Given the description of an element on the screen output the (x, y) to click on. 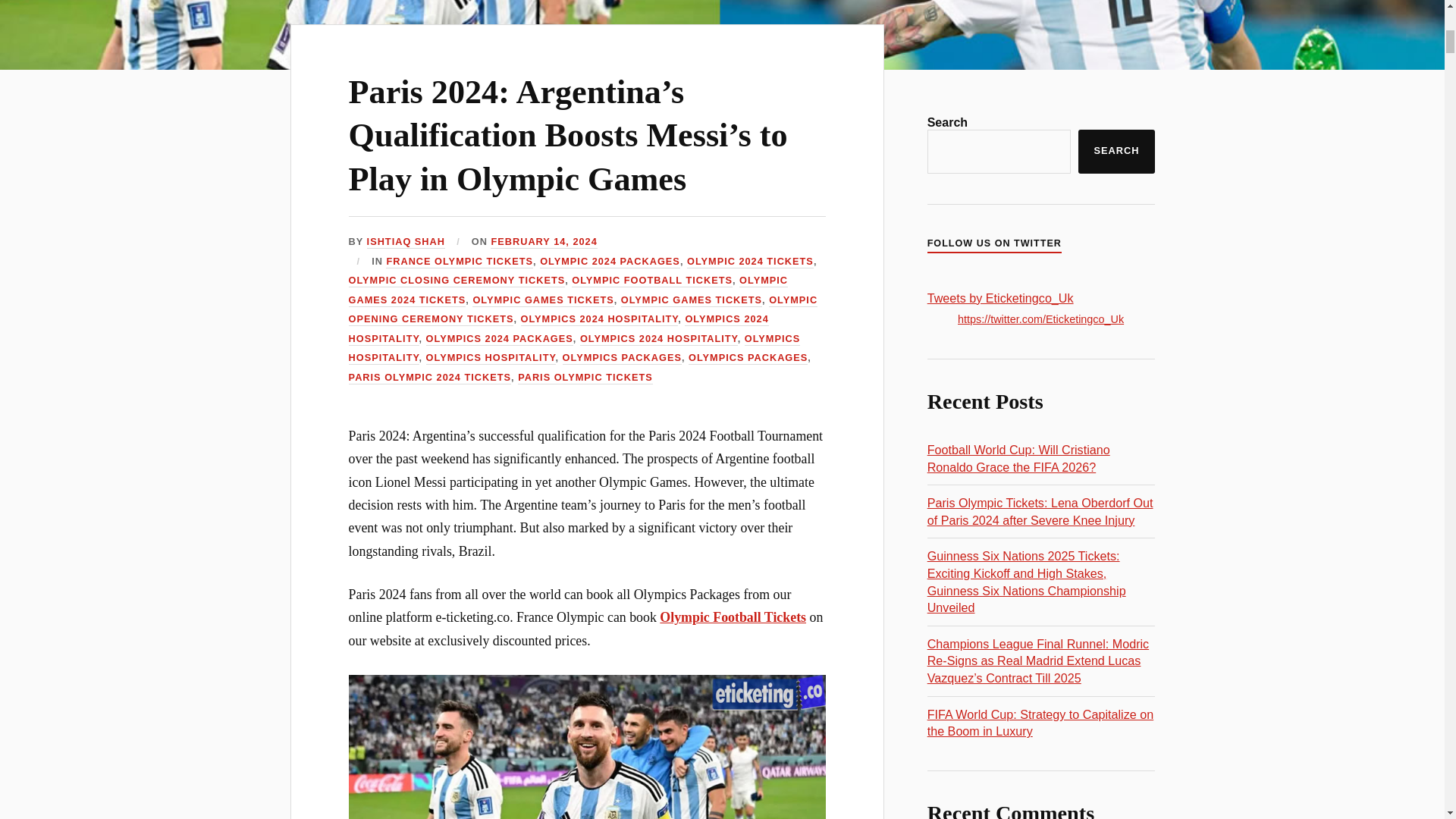
FEBRUARY 14, 2024 (543, 241)
ISHTIAQ SHAH (405, 241)
Posts by Ishtiaq Shah (405, 241)
